Given the description of an element on the screen output the (x, y) to click on. 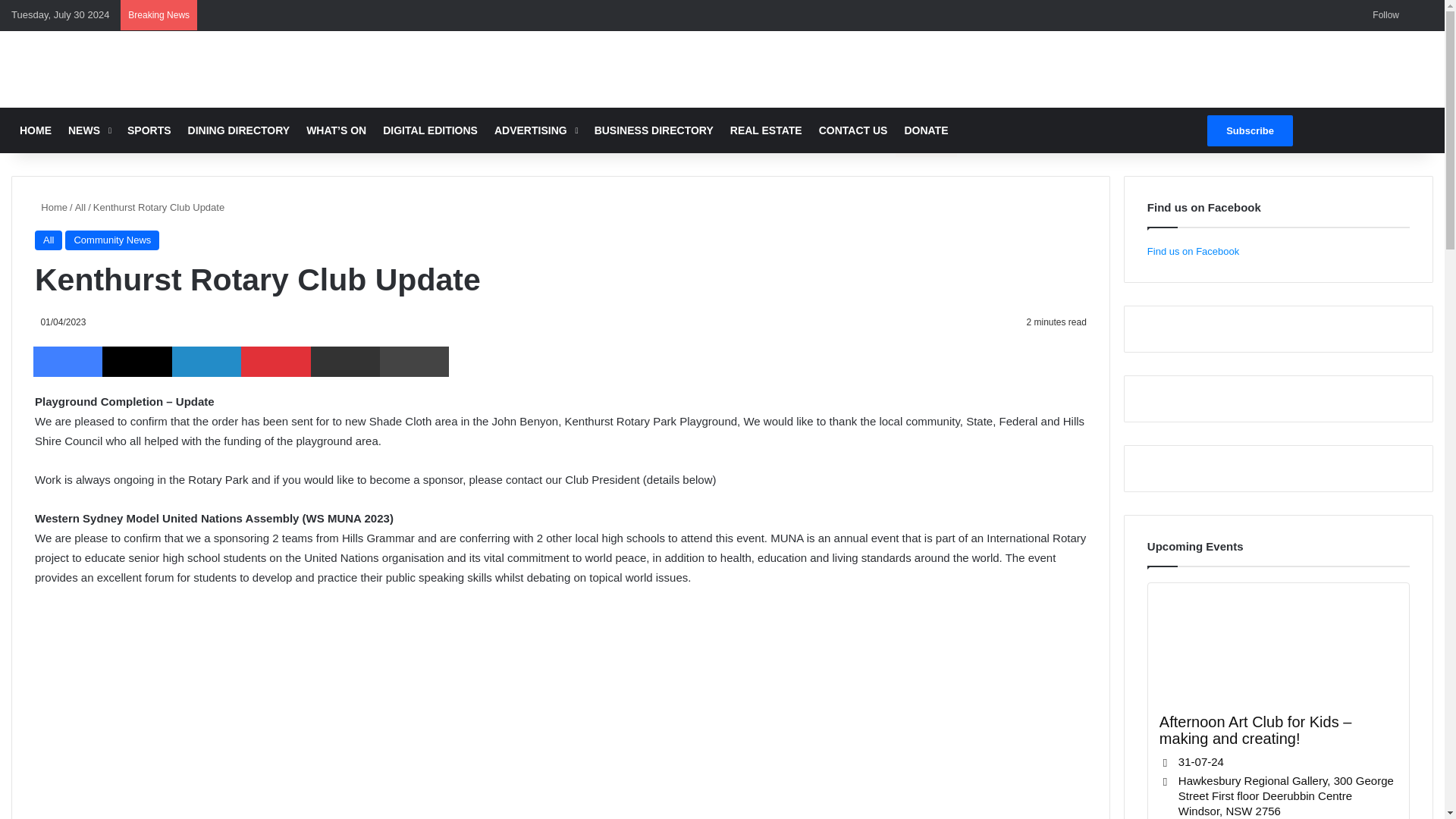
SPORTS (149, 130)
Pinterest (275, 361)
REAL ESTATE (766, 130)
DIGITAL EDITIONS (430, 130)
LinkedIn (206, 361)
Subscribe (1249, 130)
X (136, 361)
CONTACT US (853, 130)
HOME (35, 130)
Facebook (67, 361)
DINING DIRECTORY (238, 130)
NEWS (89, 130)
Follow (1382, 15)
ADVERTISING (536, 130)
BUSINESS DIRECTORY (654, 130)
